Given the description of an element on the screen output the (x, y) to click on. 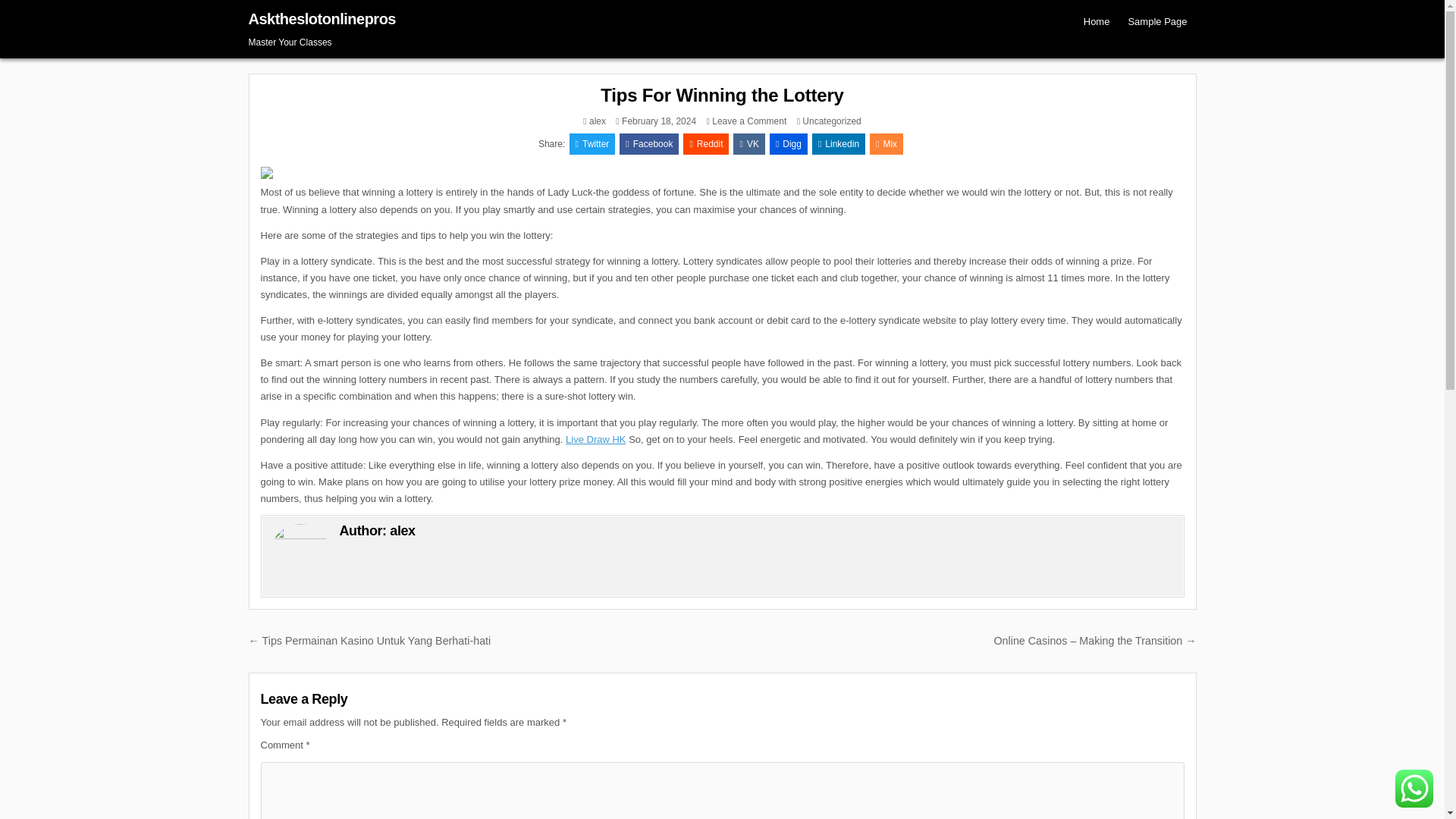
Uncategorized (831, 121)
Home (1096, 21)
Tweet This! (748, 121)
Sample Page (592, 143)
VK (1156, 21)
Twitter (748, 143)
Share this on Mix (592, 143)
Digg (885, 143)
Linkedin (789, 143)
alex (838, 143)
Share this on Linkedin (402, 530)
Facebook (838, 143)
Mix (649, 143)
alex (885, 143)
